Given the description of an element on the screen output the (x, y) to click on. 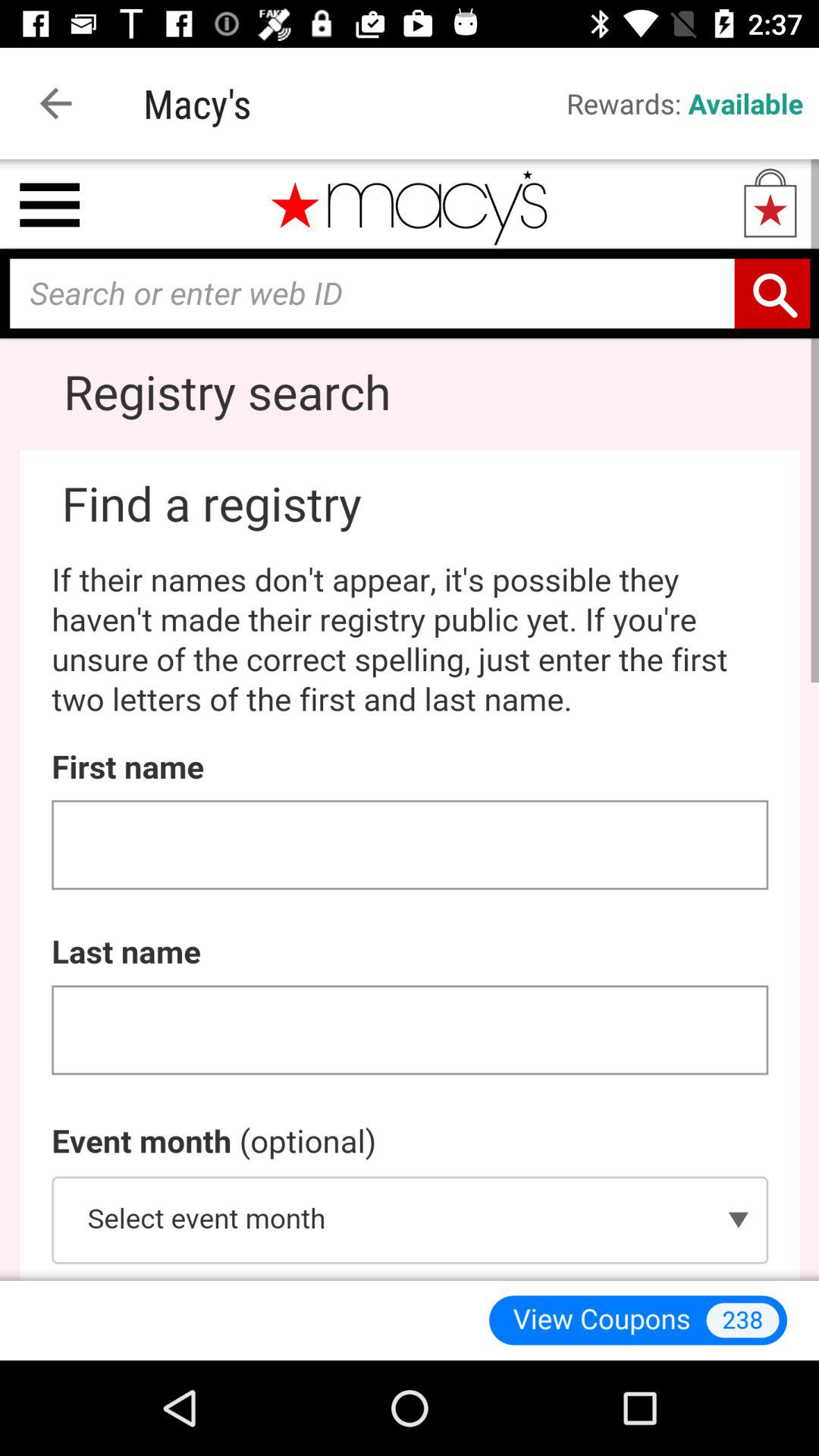
registry search (409, 719)
